Given the description of an element on the screen output the (x, y) to click on. 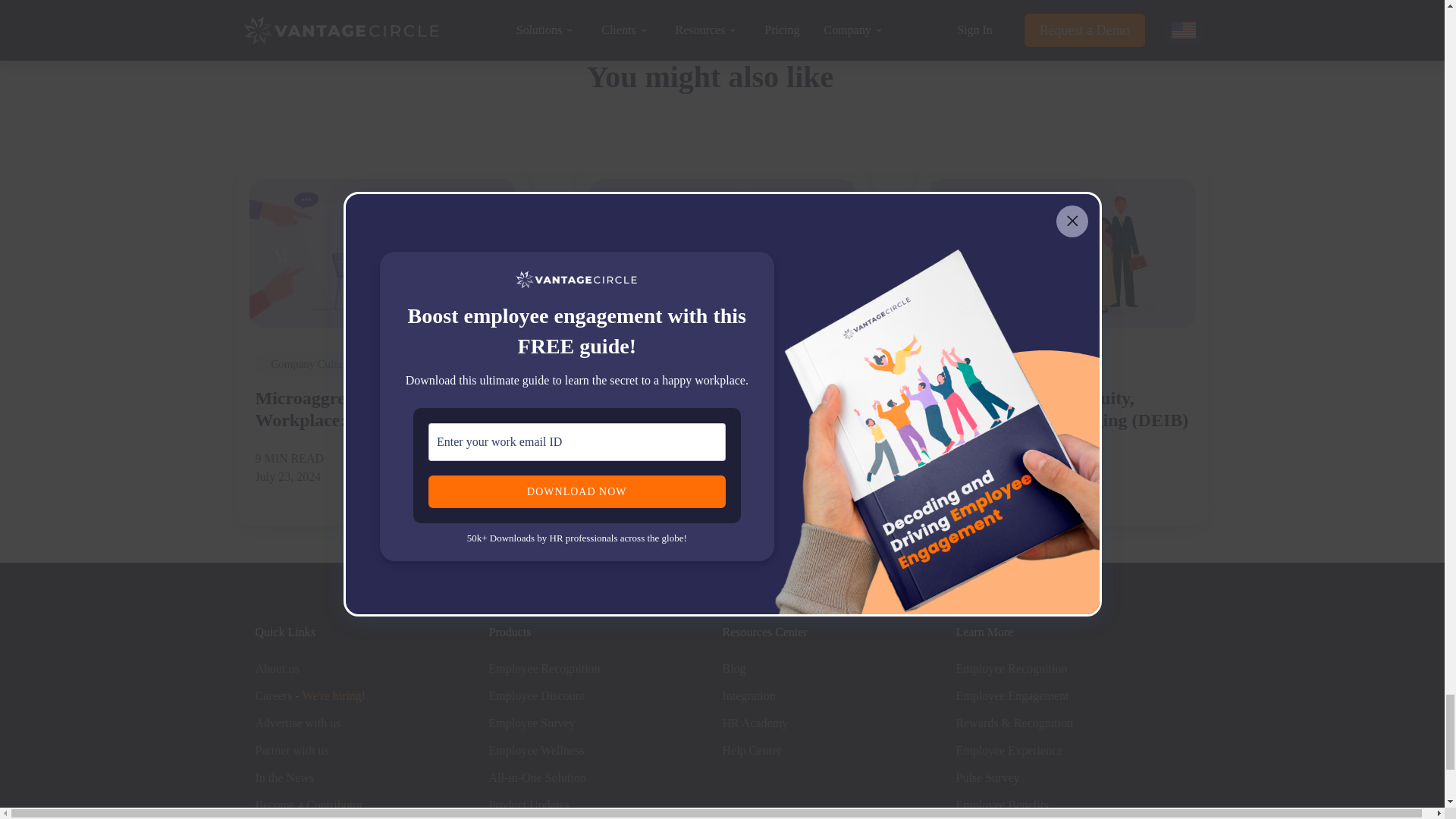
Top 15 Examples of Company Culture Done Right (722, 254)
Top 15 Examples of Company Culture Done Right (721, 409)
